Given the description of an element on the screen output the (x, y) to click on. 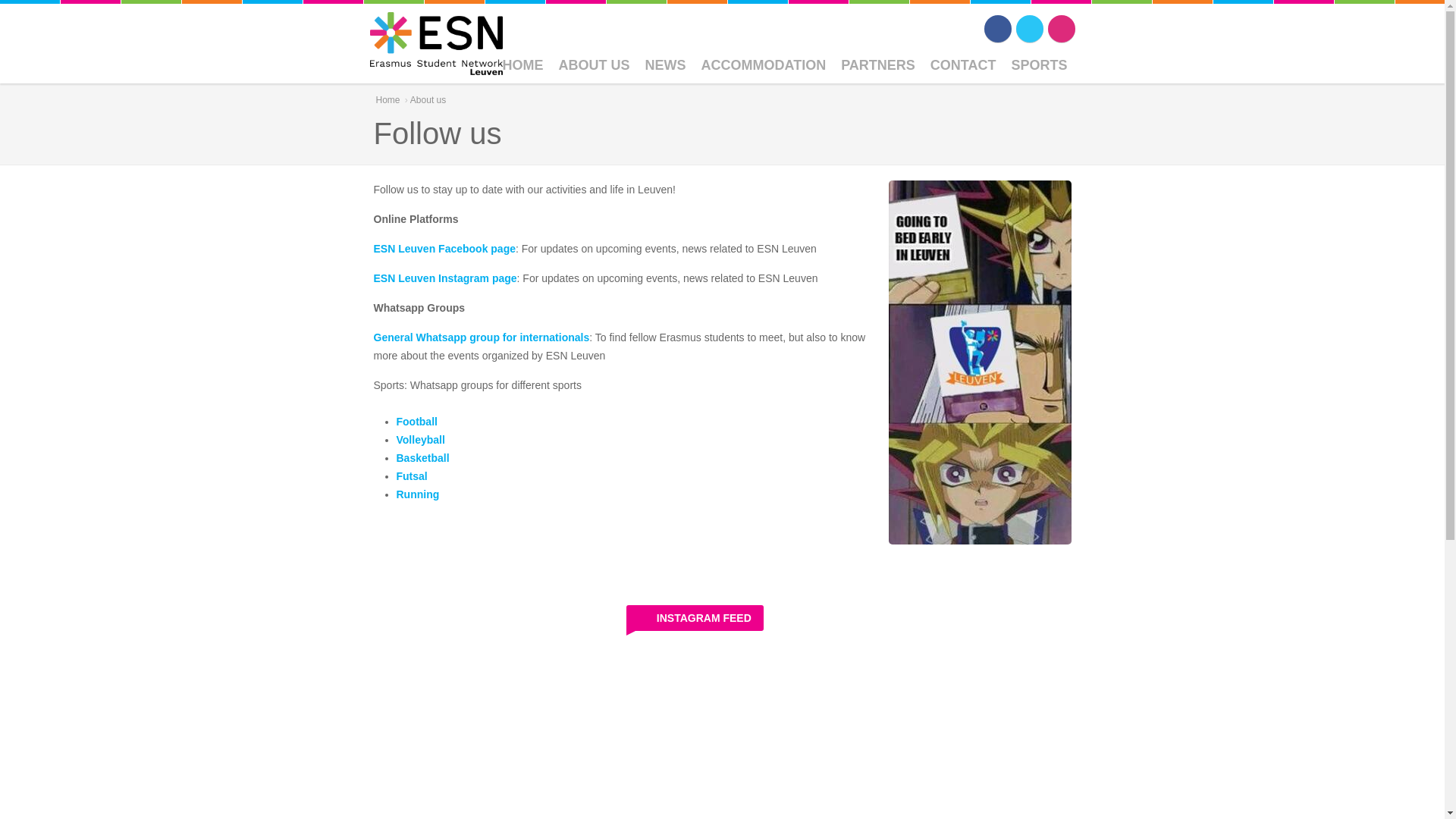
Facebook (997, 28)
Twitter (1029, 28)
ABOUT US (593, 64)
NEWS (664, 64)
Facebook (997, 28)
Instagram (1061, 28)
PARTNERS (877, 64)
CONTACT (963, 64)
Home (435, 43)
HOME (522, 64)
ACCOMMODATION (762, 64)
SPORTS (1038, 64)
